Given the description of an element on the screen output the (x, y) to click on. 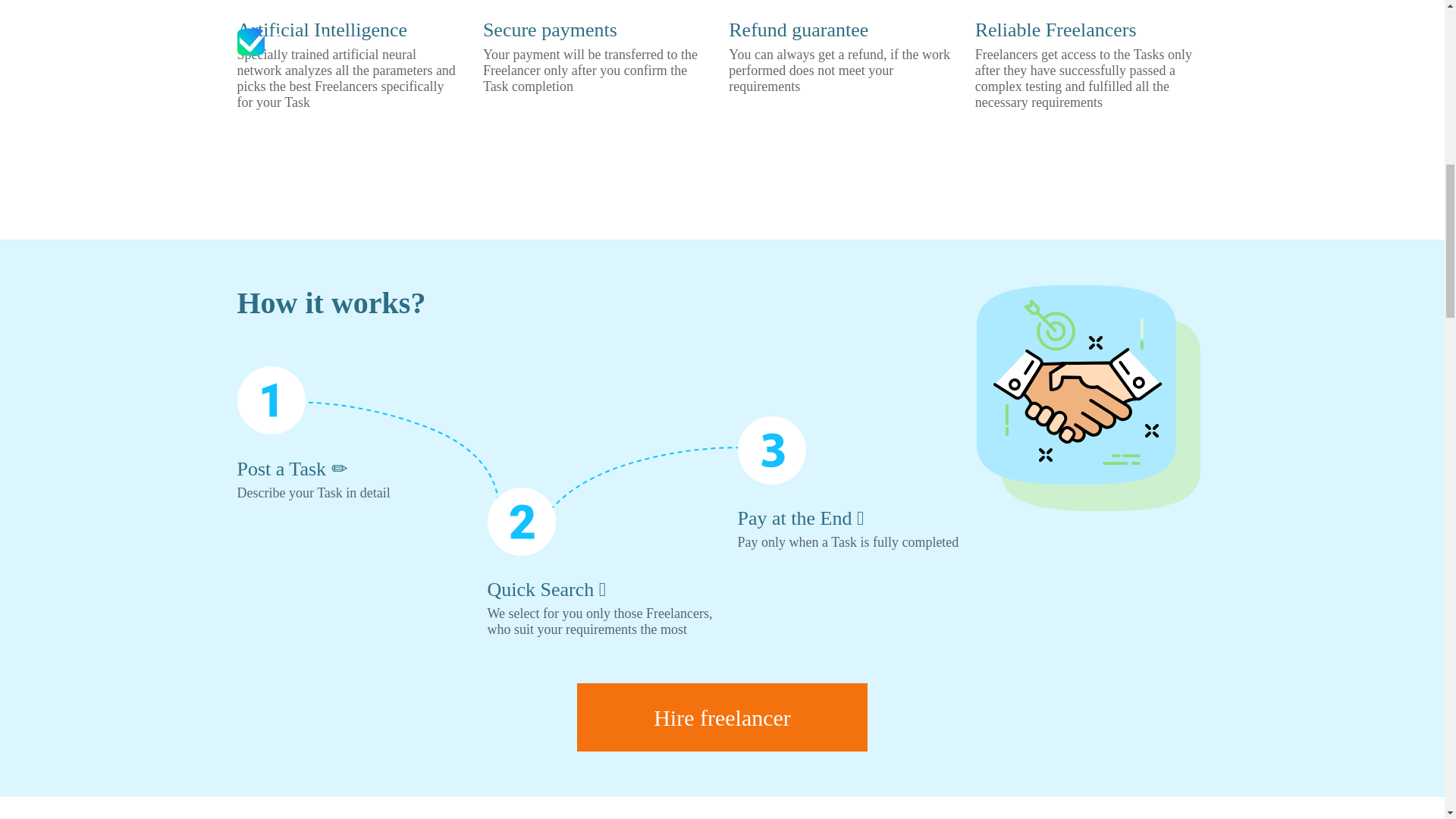
Hire freelancer (721, 717)
